Given the description of an element on the screen output the (x, y) to click on. 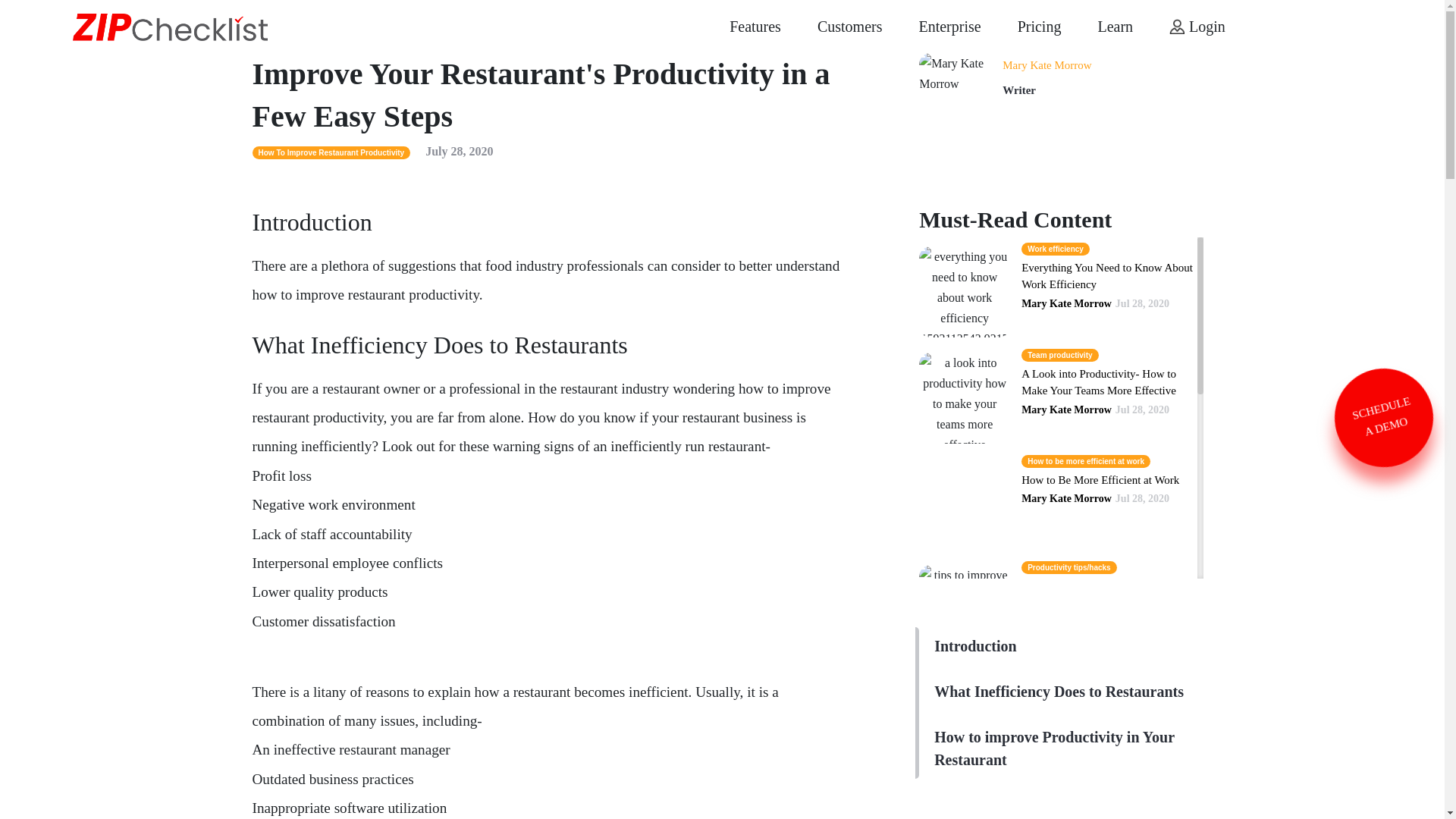
Features (755, 26)
Login (1197, 26)
Tips to Improve Productivity in the Workplace (1102, 594)
Pricing (1039, 26)
Improving Work Efficiency and Why it Matters (1106, 805)
Enterprise (949, 26)
Everything You Need to Know About Work Efficiency (1107, 276)
How to Be More Efficient at Work (1100, 480)
